Given the description of an element on the screen output the (x, y) to click on. 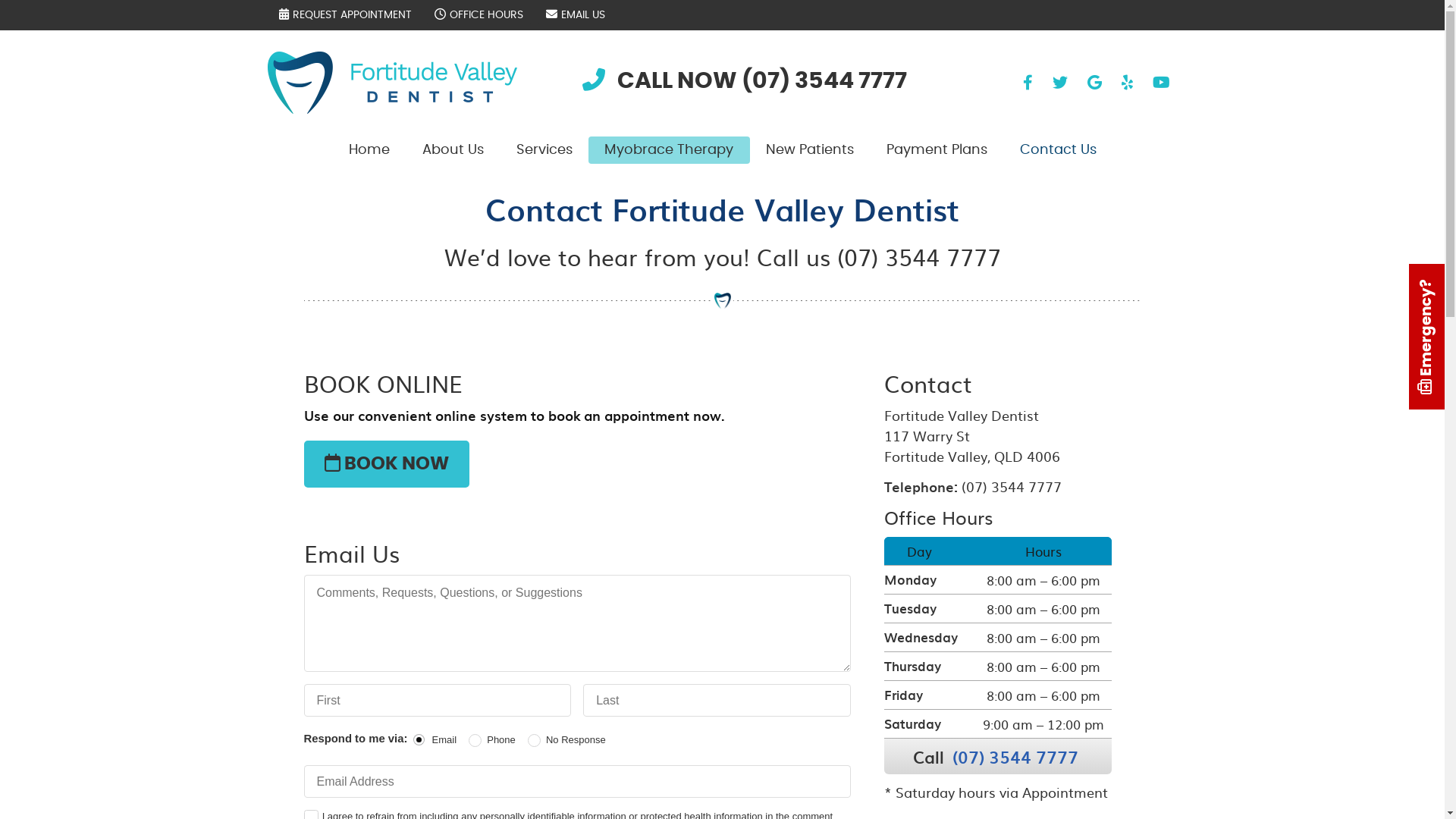
google icon link Element type: text (1096, 80)
EMAIL US Element type: text (575, 14)
facebook icon link Element type: text (1029, 80)
Payment Plans Element type: text (937, 149)
About Us Element type: text (453, 149)
Services Element type: text (544, 149)
twitter icon link Element type: text (1061, 80)
Myobrace Therapy Element type: text (668, 149)
Home Element type: text (368, 149)
REQUEST APPOINTMENT Element type: text (345, 14)
(07) 3544 7777 Element type: text (1015, 755)
yelp icon link Element type: text (1128, 80)
OFFICE HOURS Element type: text (478, 14)
New Patients Element type: text (809, 149)
Contact Us Element type: text (1058, 149)
Fortitude Valley Dentist Element type: text (391, 107)
BOOK NOW Element type: text (385, 463)
